Given the description of an element on the screen output the (x, y) to click on. 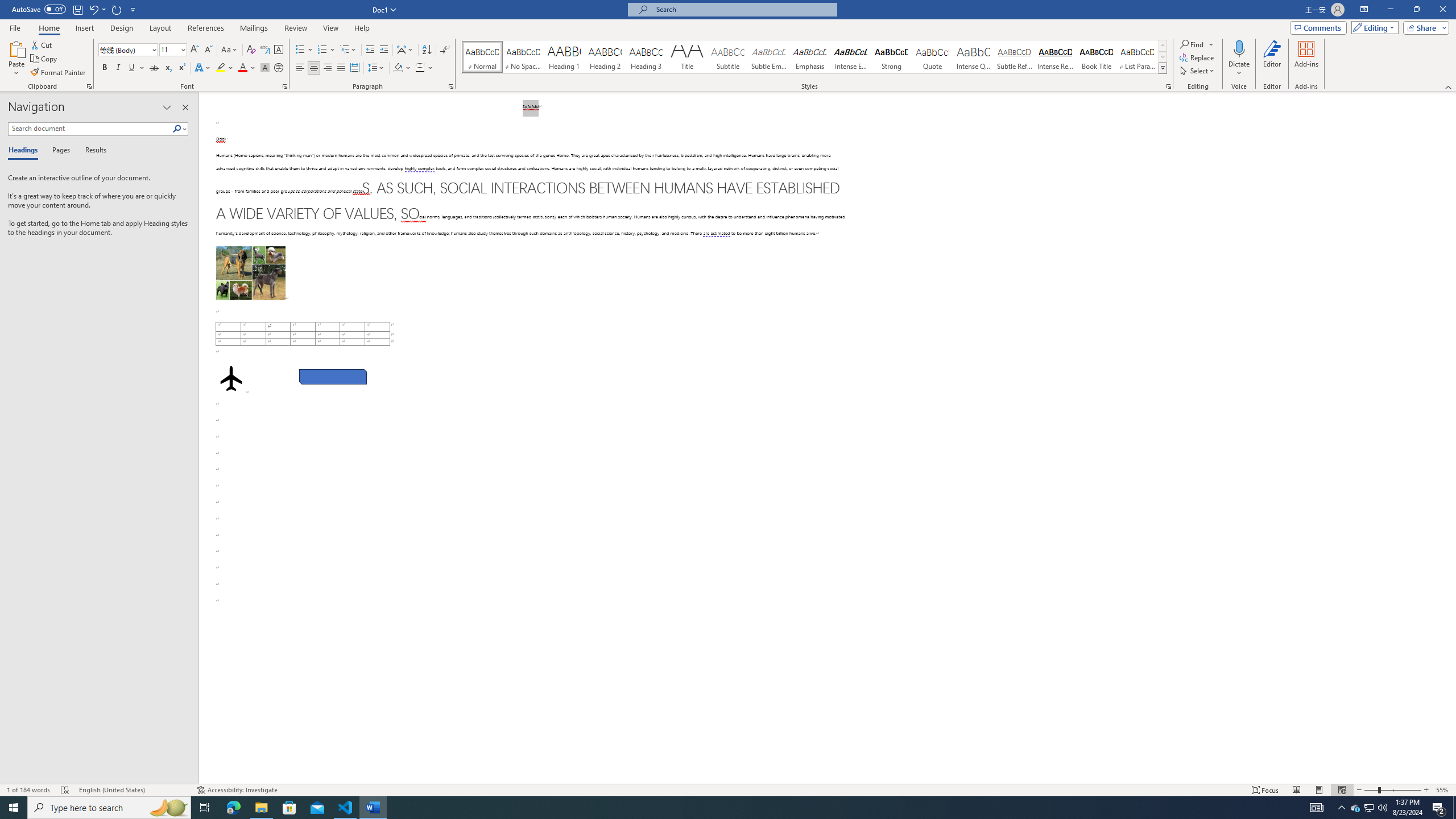
Subtle Emphasis (768, 56)
